Given the description of an element on the screen output the (x, y) to click on. 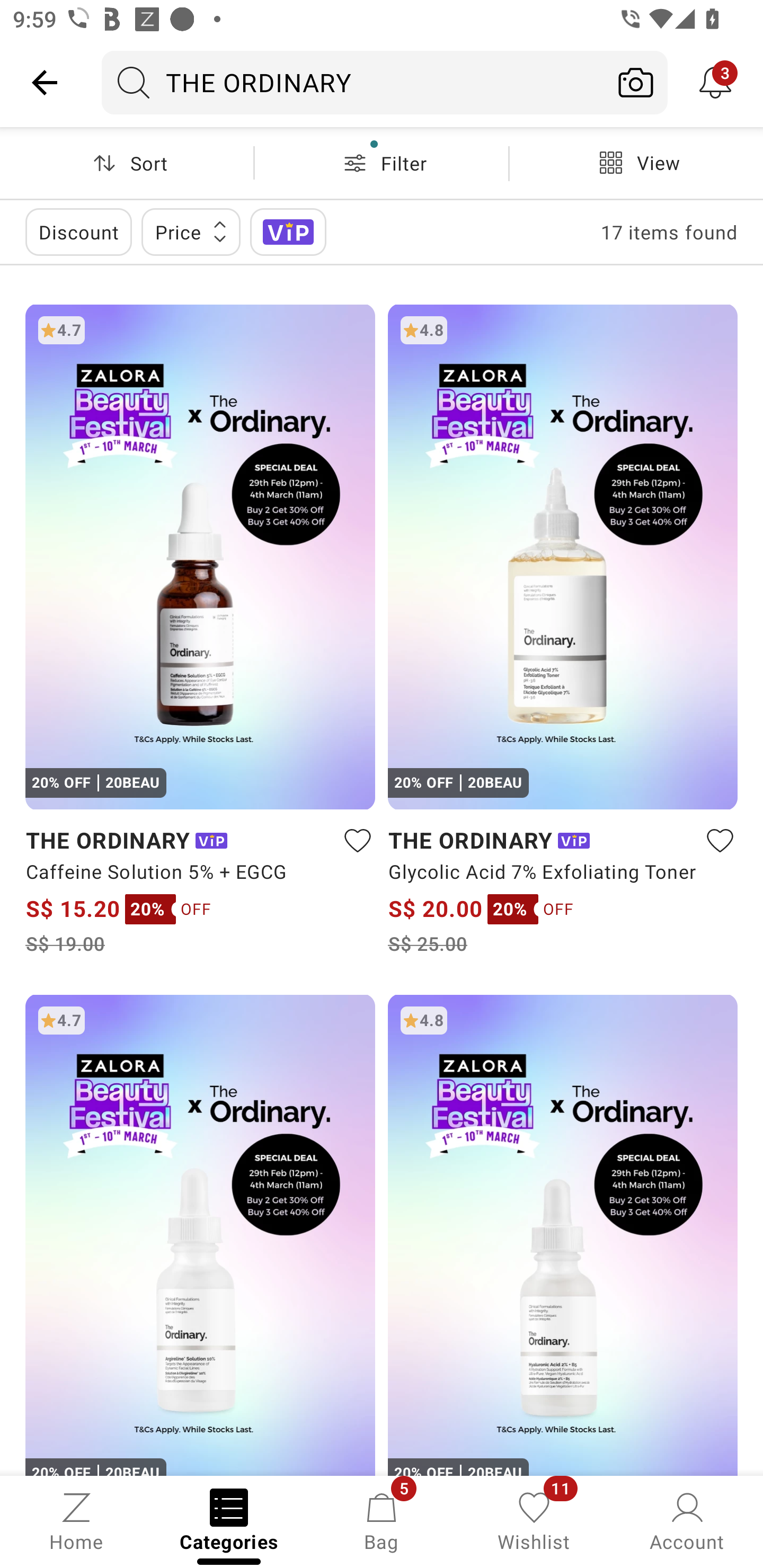
Navigate up (44, 82)
THE ORDINARY (352, 82)
Sort (126, 163)
Filter (381, 163)
View (636, 163)
Discount (78, 231)
Price (190, 231)
4.7 20% OFF 20BEAU (200, 1234)
4.8 20% OFF 20BEAU (562, 1234)
Home (76, 1519)
Bag, 5 new notifications Bag (381, 1519)
Wishlist, 11 new notifications Wishlist (533, 1519)
Account (686, 1519)
